Given the description of an element on the screen output the (x, y) to click on. 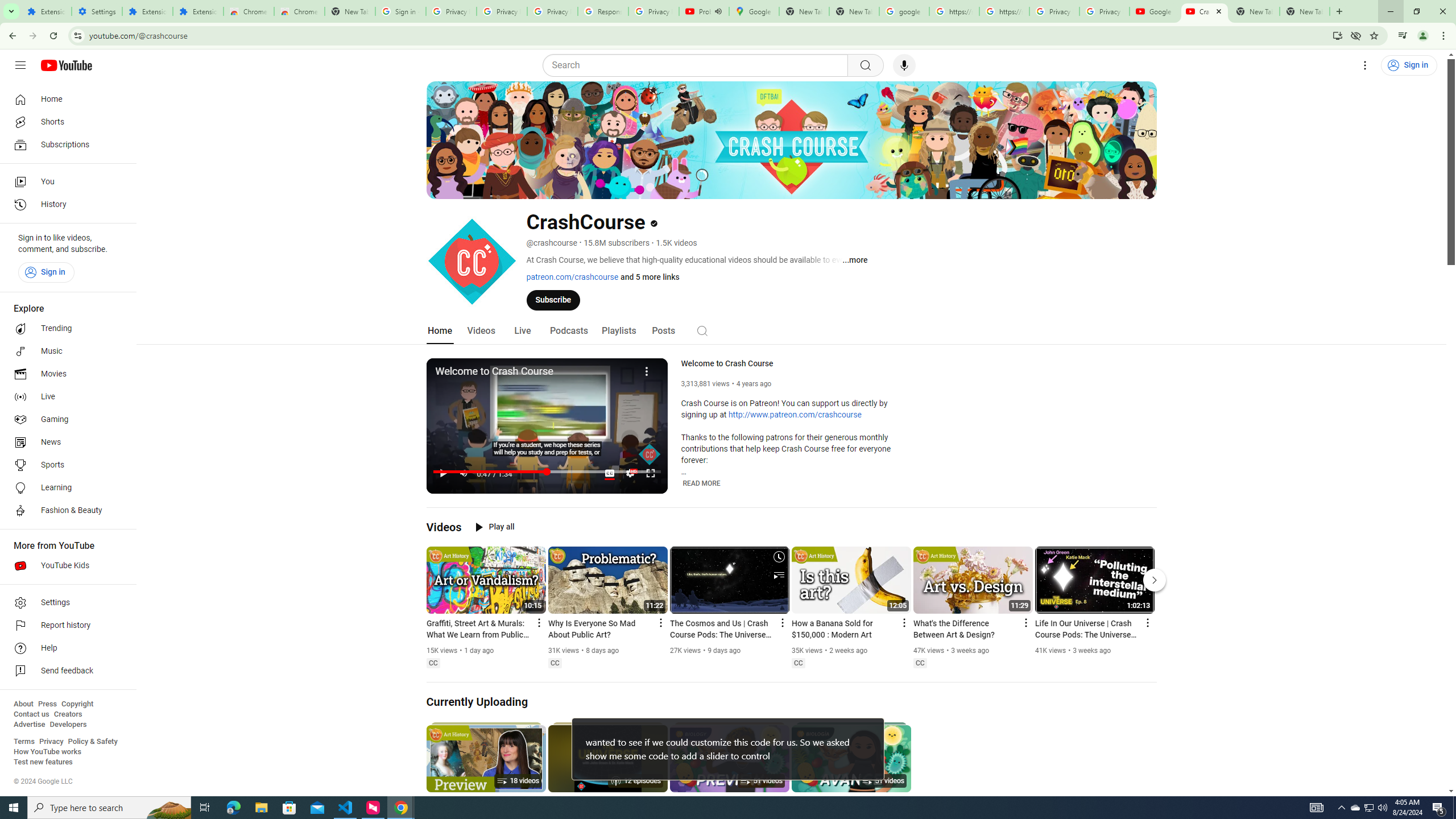
Music (64, 350)
Google Maps (753, 11)
Test new features (42, 761)
Search with your voice (903, 65)
Trending (64, 328)
System (6, 6)
Mute (m) (463, 472)
Home (440, 330)
Action menu (1146, 622)
